Given the description of an element on the screen output the (x, y) to click on. 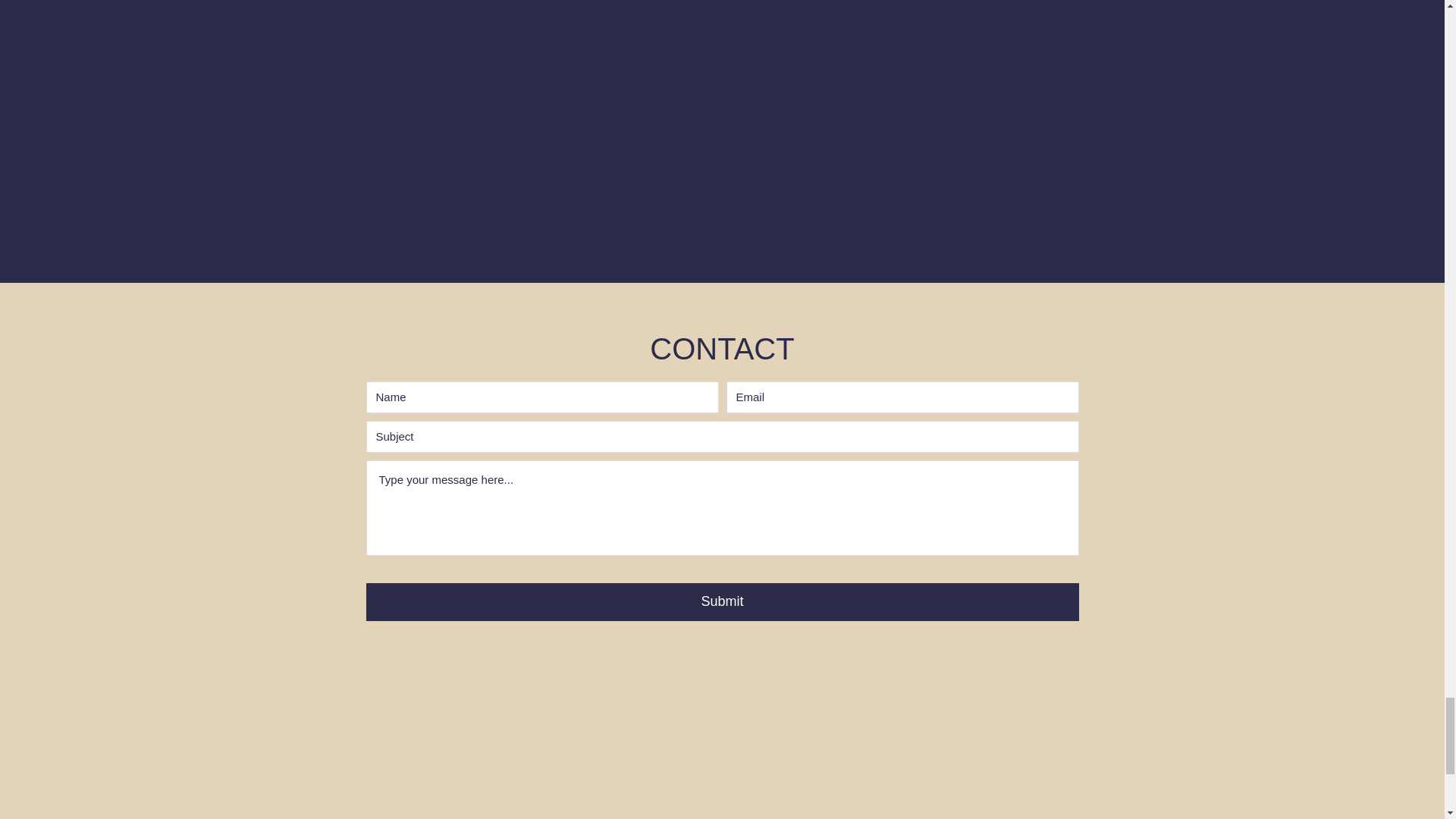
Submit (721, 601)
